Given the description of an element on the screen output the (x, y) to click on. 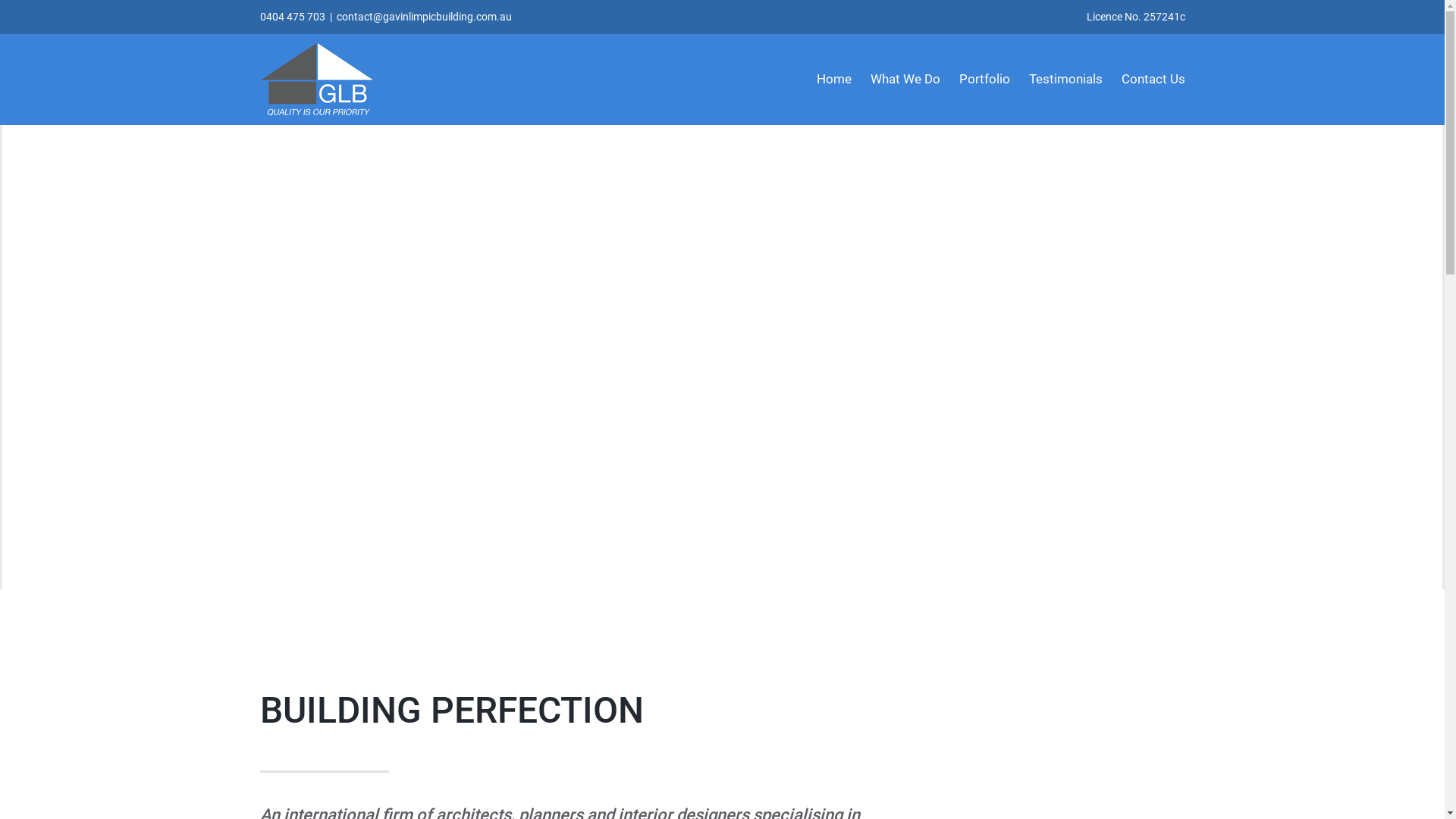
Testimonials Element type: text (1064, 78)
Home Element type: text (832, 78)
Portfolio Element type: text (983, 78)
0404 475 703 Element type: text (291, 16)
What We Do Element type: text (905, 78)
contact@gavinlimpicbuilding.com.au Element type: text (423, 16)
Contact Us Element type: text (1152, 78)
GET IN TOUCH Element type: text (332, 461)
